Given the description of an element on the screen output the (x, y) to click on. 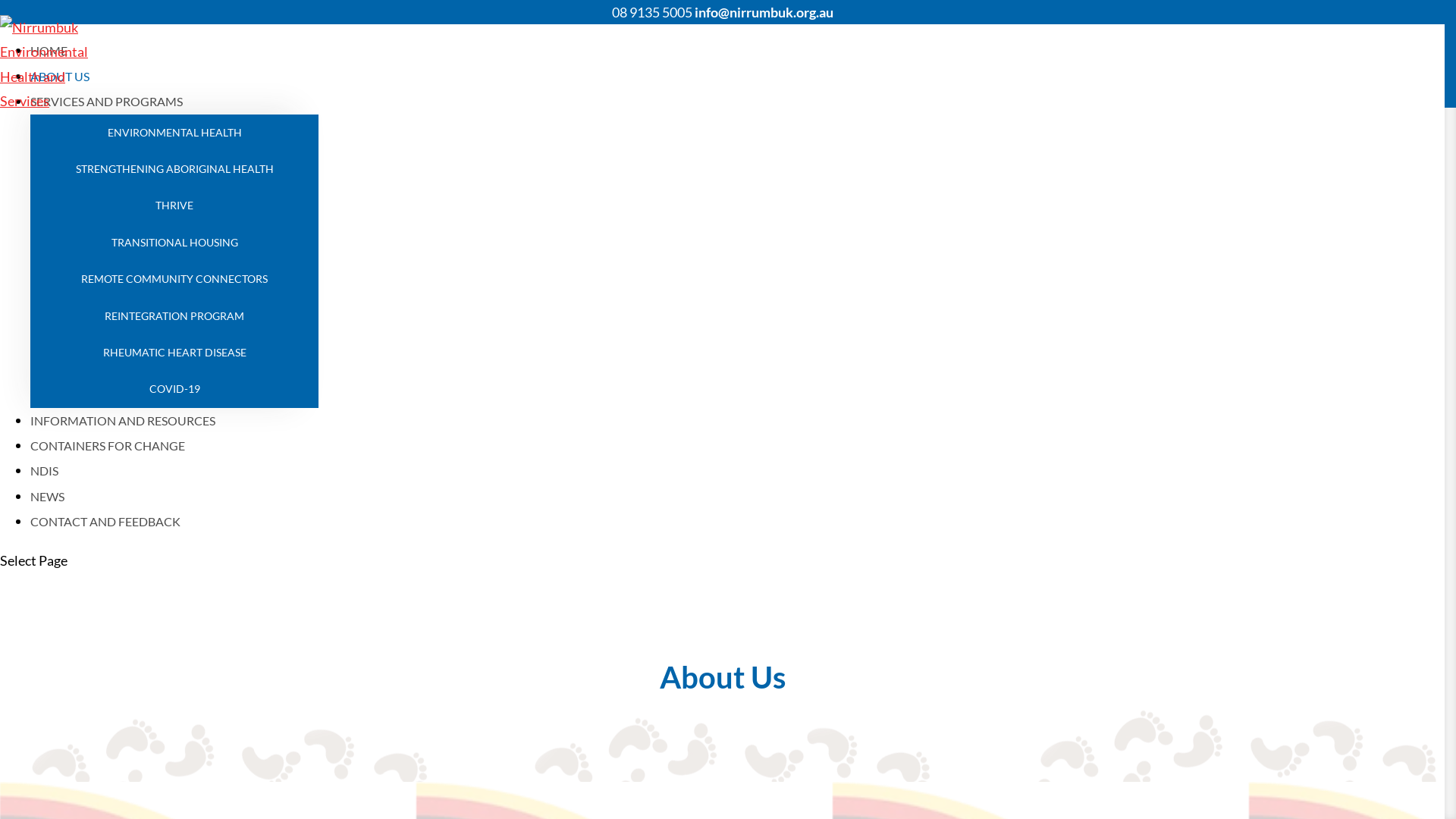
REMOTE COMMUNITY CONNECTORS Element type: text (174, 278)
info@nirrumbuk.org.au Element type: text (763, 11)
ABOUT US Element type: text (59, 76)
STRENGTHENING ABORIGINAL HEALTH Element type: text (174, 168)
08 9135 5005 Element type: text (651, 11)
NEWS Element type: text (47, 496)
RHEUMATIC HEART DISEASE Element type: text (174, 352)
COVID-19 Element type: text (174, 388)
INFORMATION AND RESOURCES Element type: text (122, 420)
CONTACT AND FEEDBACK Element type: text (105, 521)
THRIVE Element type: text (174, 205)
NDIS Element type: text (44, 470)
REINTEGRATION PROGRAM Element type: text (174, 316)
SERVICES AND PROGRAMS Element type: text (106, 101)
ENVIRONMENTAL HEALTH Element type: text (174, 132)
CONTAINERS FOR CHANGE Element type: text (107, 445)
HOME Element type: text (48, 50)
TRANSITIONAL HOUSING Element type: text (174, 242)
